Given the description of an element on the screen output the (x, y) to click on. 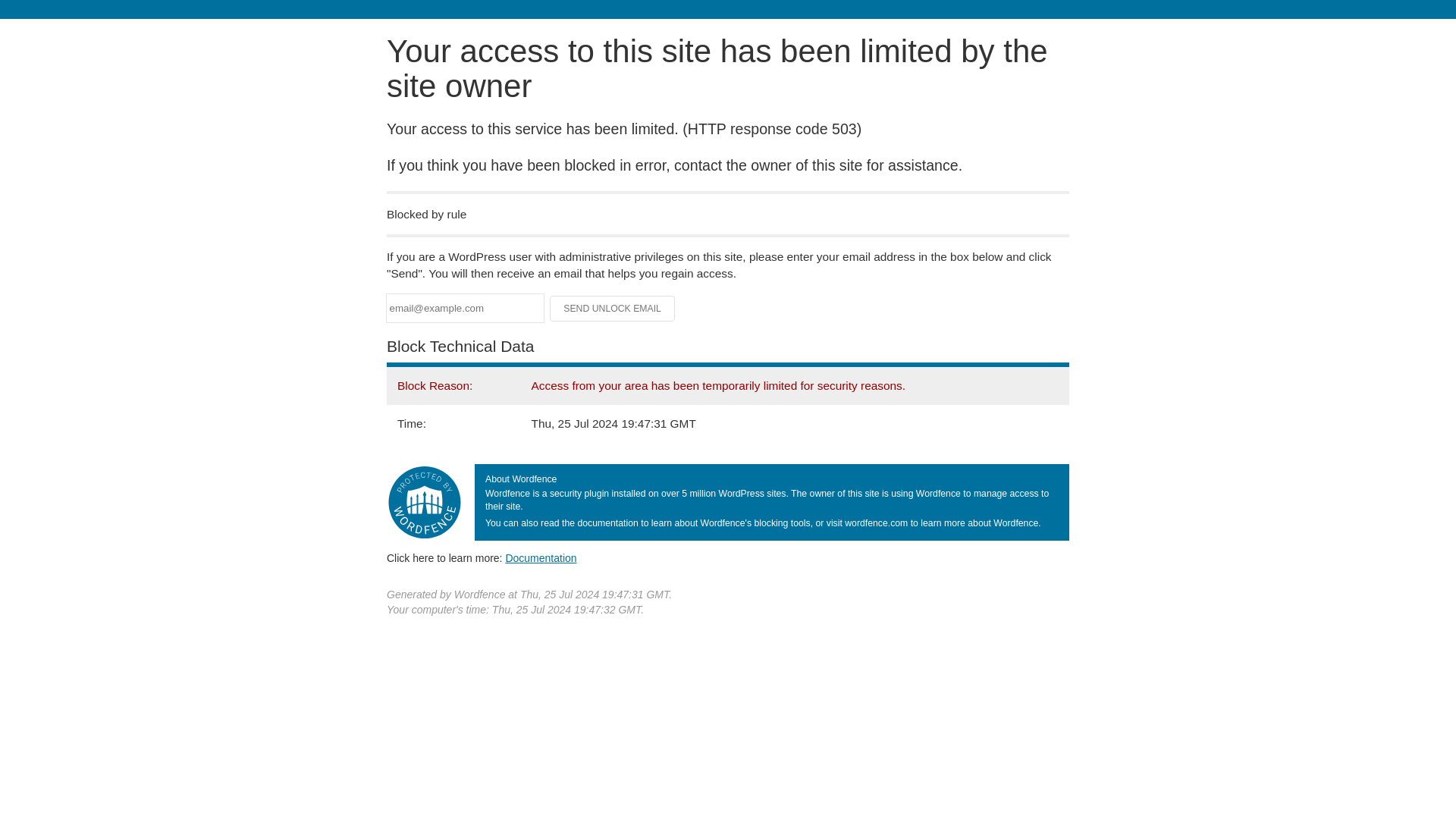
Documentation (540, 558)
Send Unlock Email (612, 308)
Send Unlock Email (612, 308)
